Given the description of an element on the screen output the (x, y) to click on. 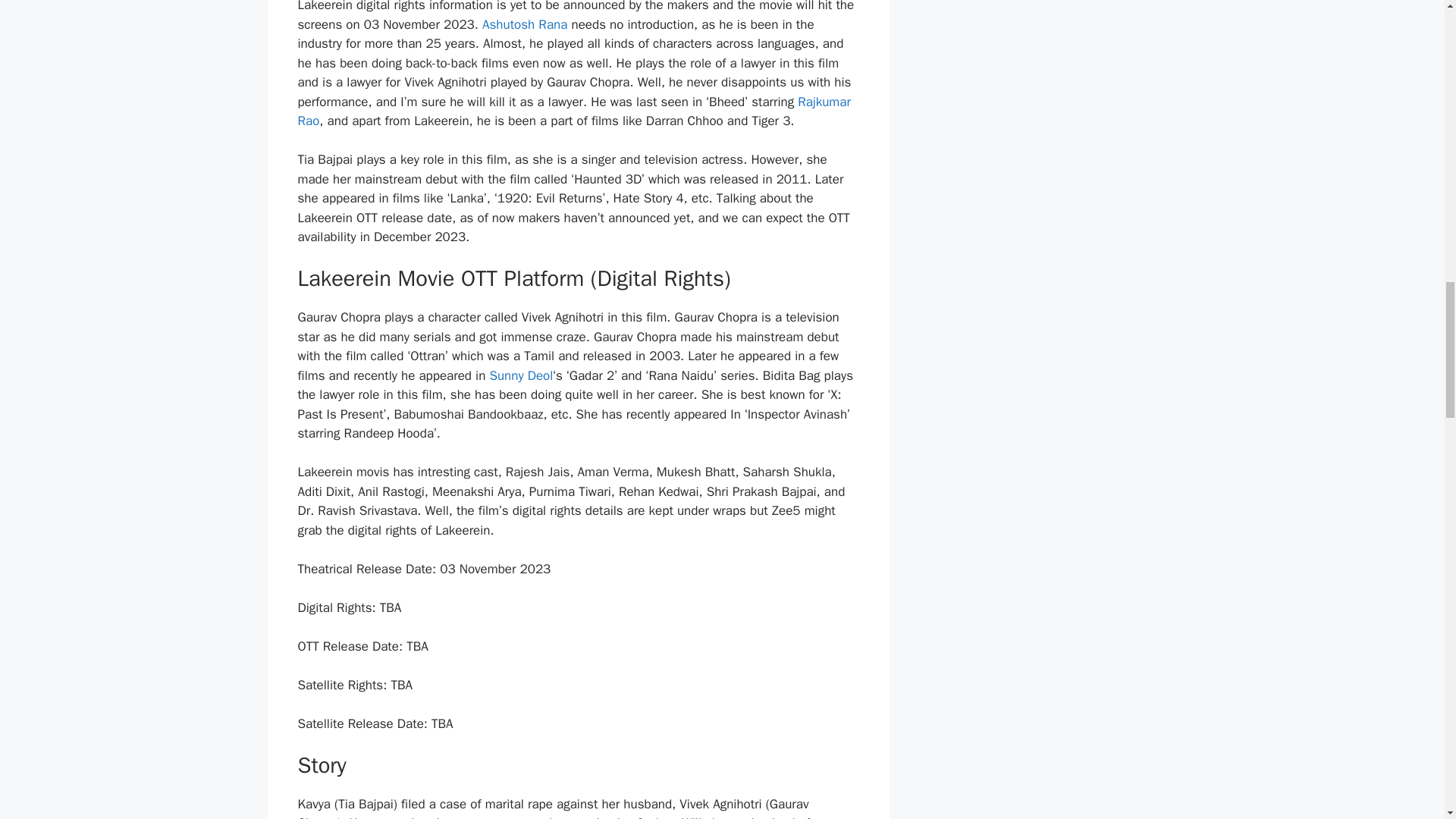
Ashutosh Rana (524, 24)
Rajkumar Rao (573, 111)
Sunny Deol (521, 375)
